Given the description of an element on the screen output the (x, y) to click on. 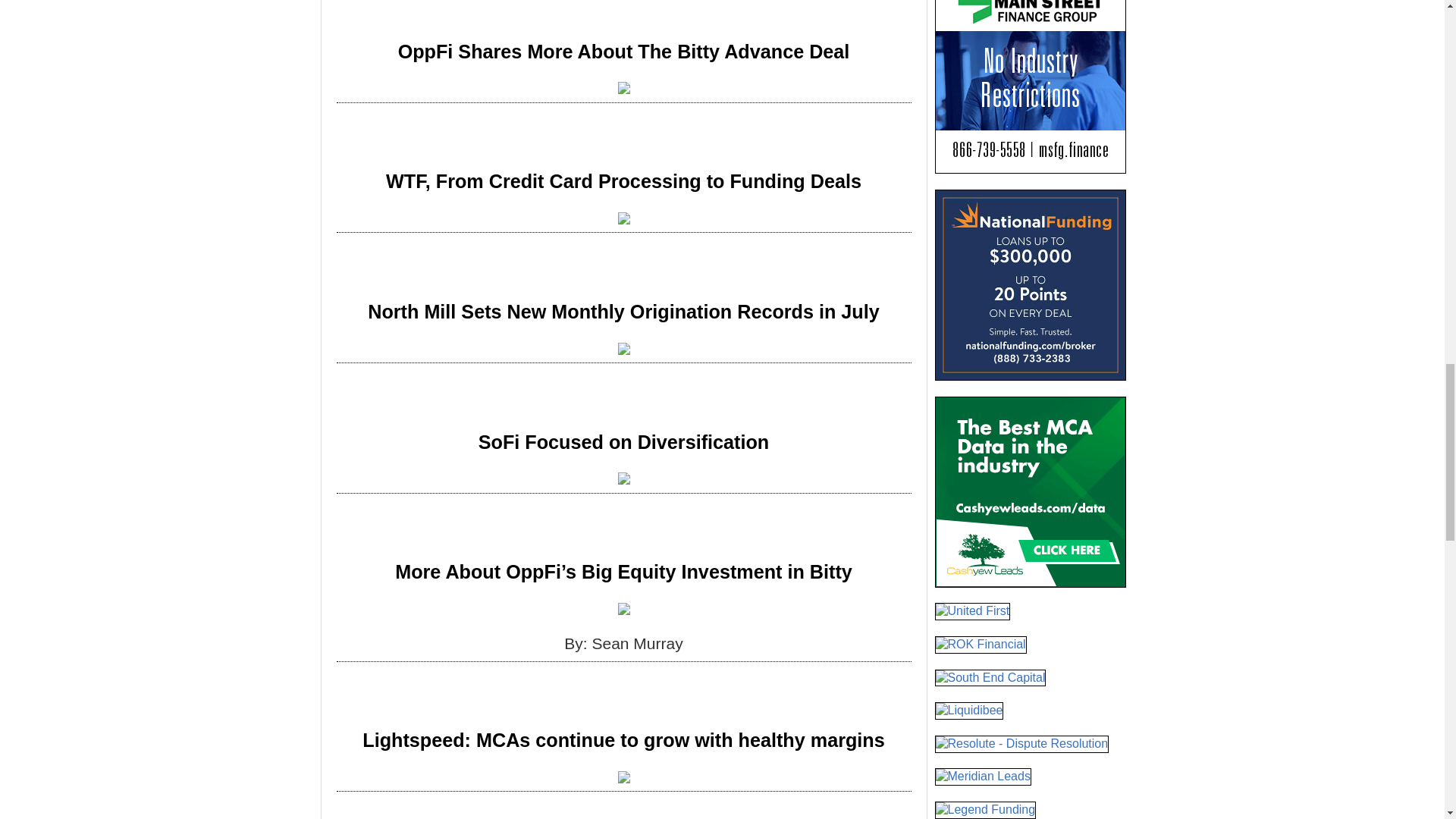
South End Capital (989, 678)
ROK Financial (980, 644)
Main Street Finance Group (1029, 86)
United First (972, 610)
Cashyew (1029, 492)
National Funding (1029, 284)
